Given the description of an element on the screen output the (x, y) to click on. 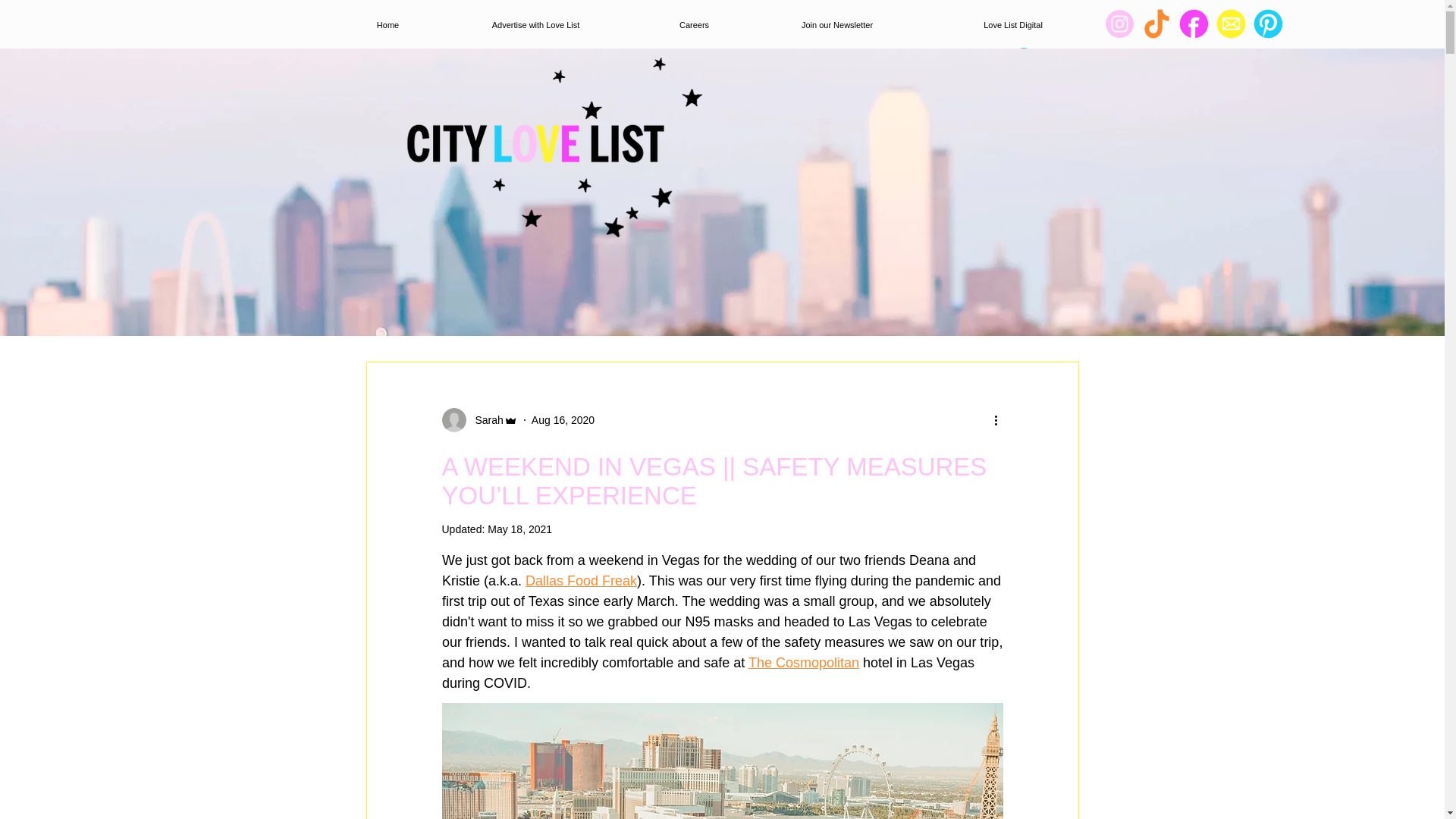
Dallas Food Freak (581, 580)
The Cosmopolitan (803, 662)
Careers (693, 25)
Log In (1044, 57)
Aug 16, 2020 (562, 419)
Love List Digital (1013, 25)
Join our Newsletter (836, 25)
Sarah (483, 420)
Advertise with Love List (535, 25)
Home (387, 25)
May 18, 2021 (519, 529)
Sarah (478, 419)
